Given the description of an element on the screen output the (x, y) to click on. 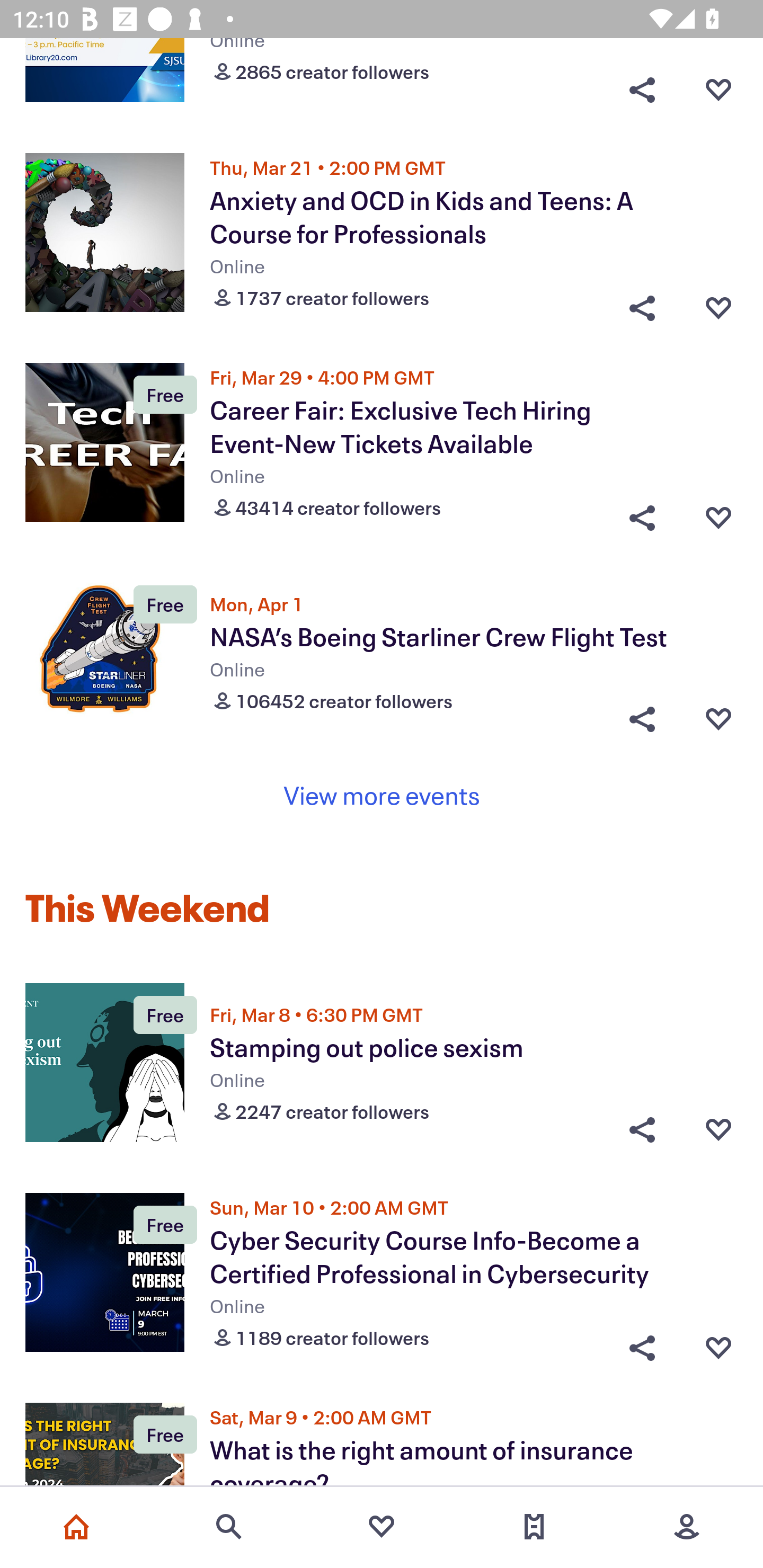
Share button (642, 89)
Favorite button (718, 89)
Share button (642, 303)
Favorite button (718, 303)
Share button (642, 513)
Favorite button (718, 513)
Share button (642, 718)
Favorite button (718, 718)
View more events (381, 794)
Share button (642, 1129)
Favorite button (718, 1129)
Share button (642, 1342)
Favorite button (718, 1342)
Home (76, 1526)
Search events (228, 1526)
Favorites (381, 1526)
Tickets (533, 1526)
More (686, 1526)
